Given the description of an element on the screen output the (x, y) to click on. 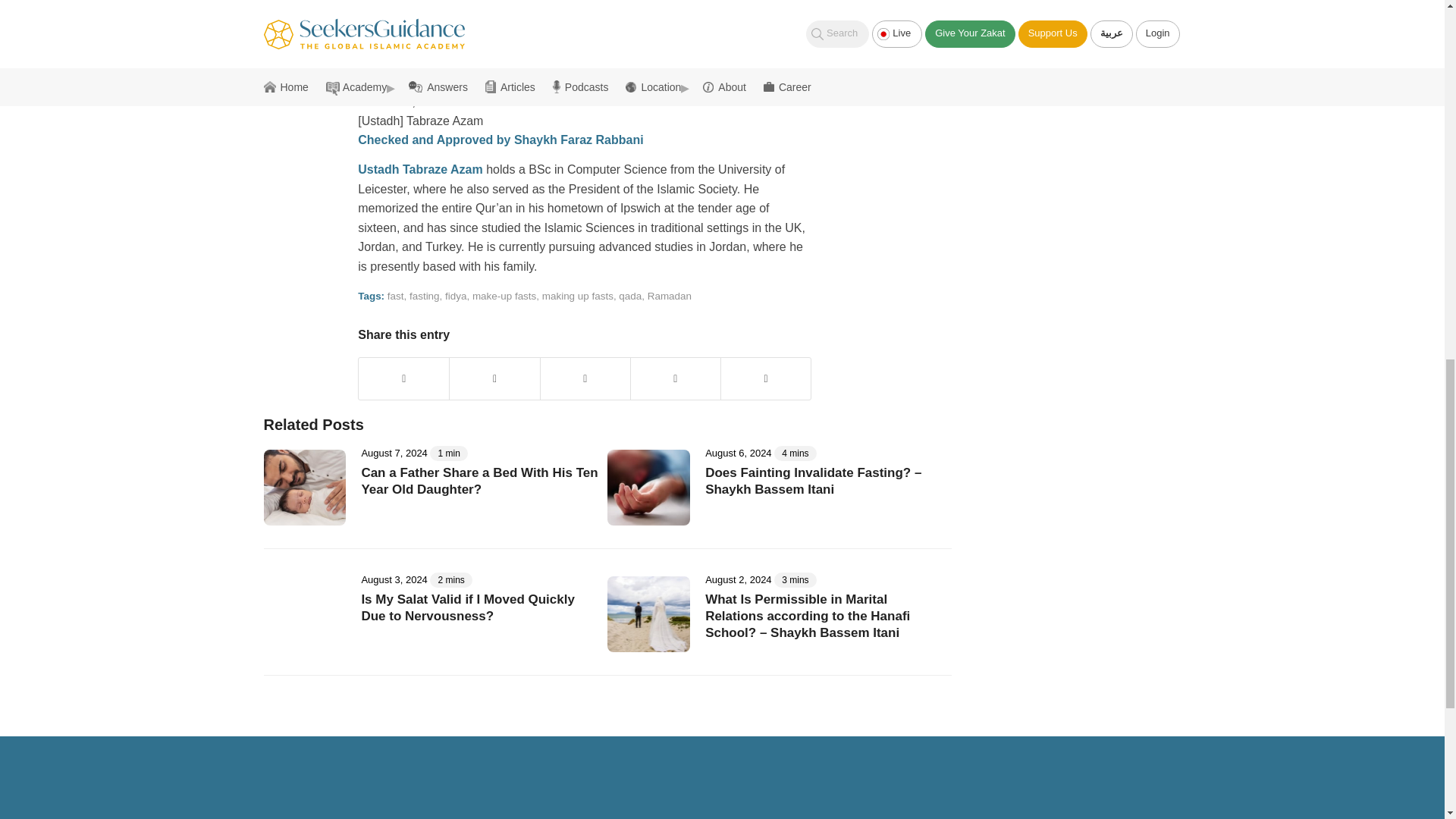
fast (395, 295)
The Complete Guide to Fasting (533, 42)
fasting (424, 295)
